Given the description of an element on the screen output the (x, y) to click on. 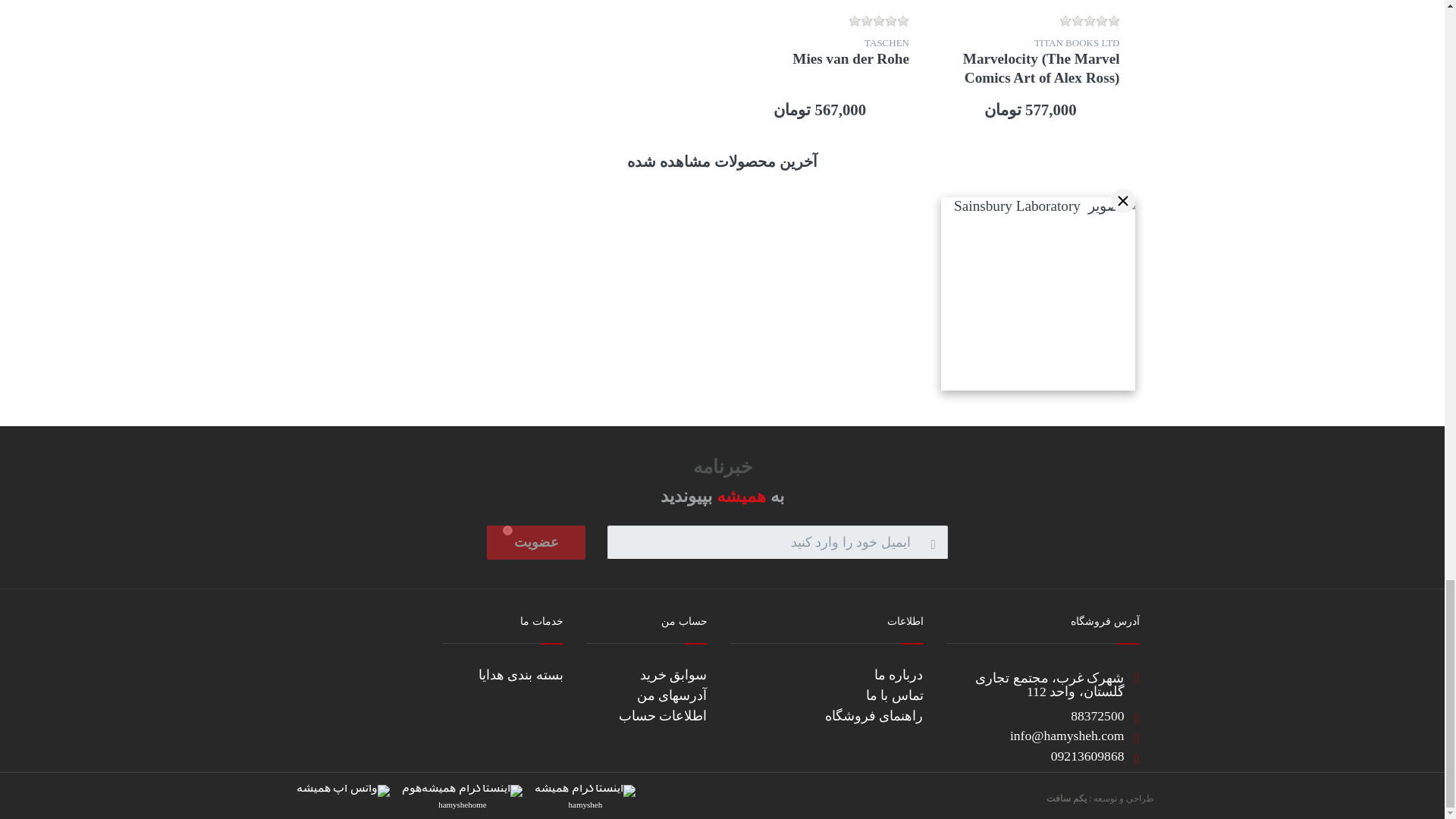
newsletter-subscribe (507, 530)
